Given the description of an element on the screen output the (x, y) to click on. 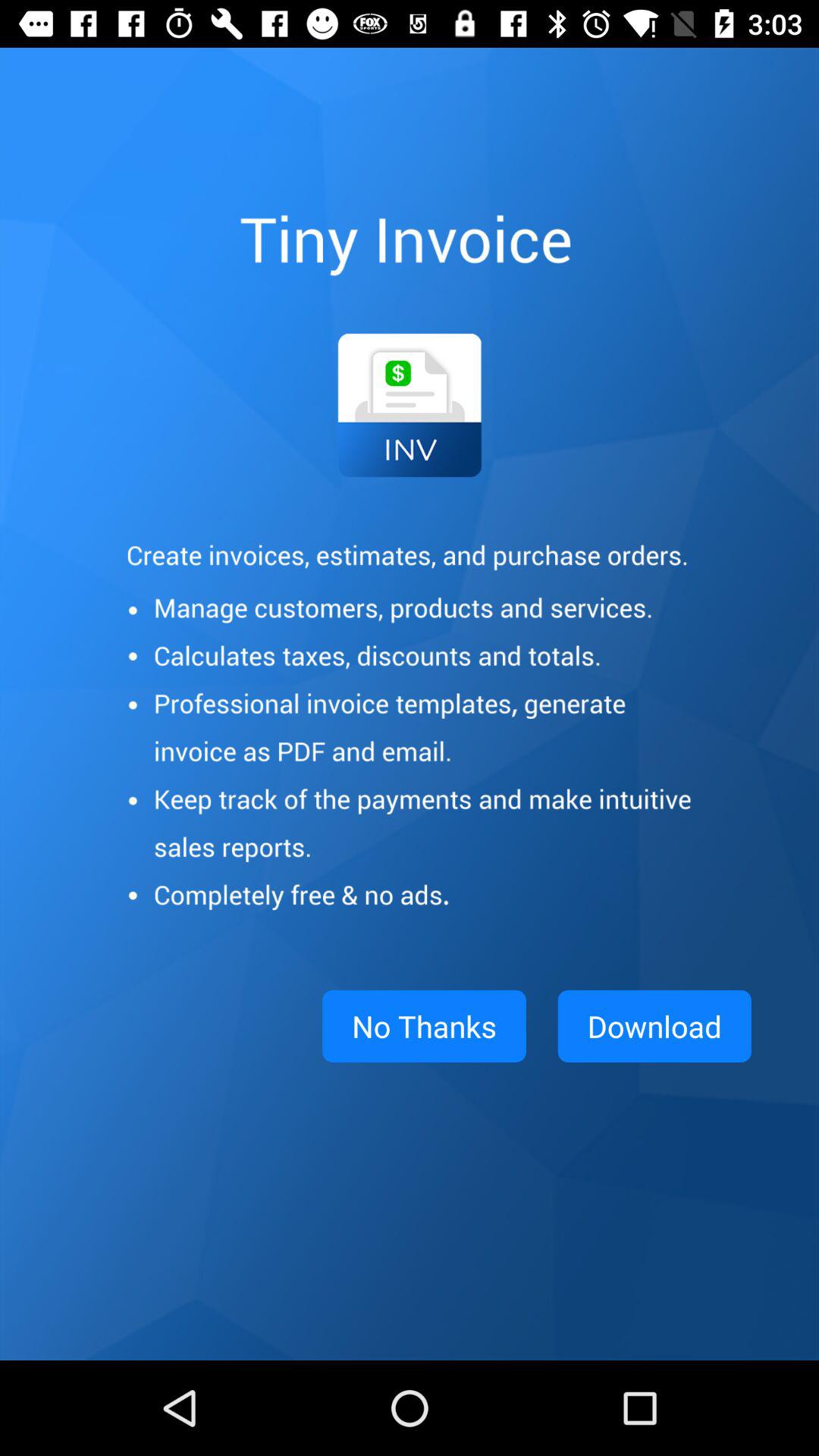
choose app to the right of no thanks item (654, 1026)
